Given the description of an element on the screen output the (x, y) to click on. 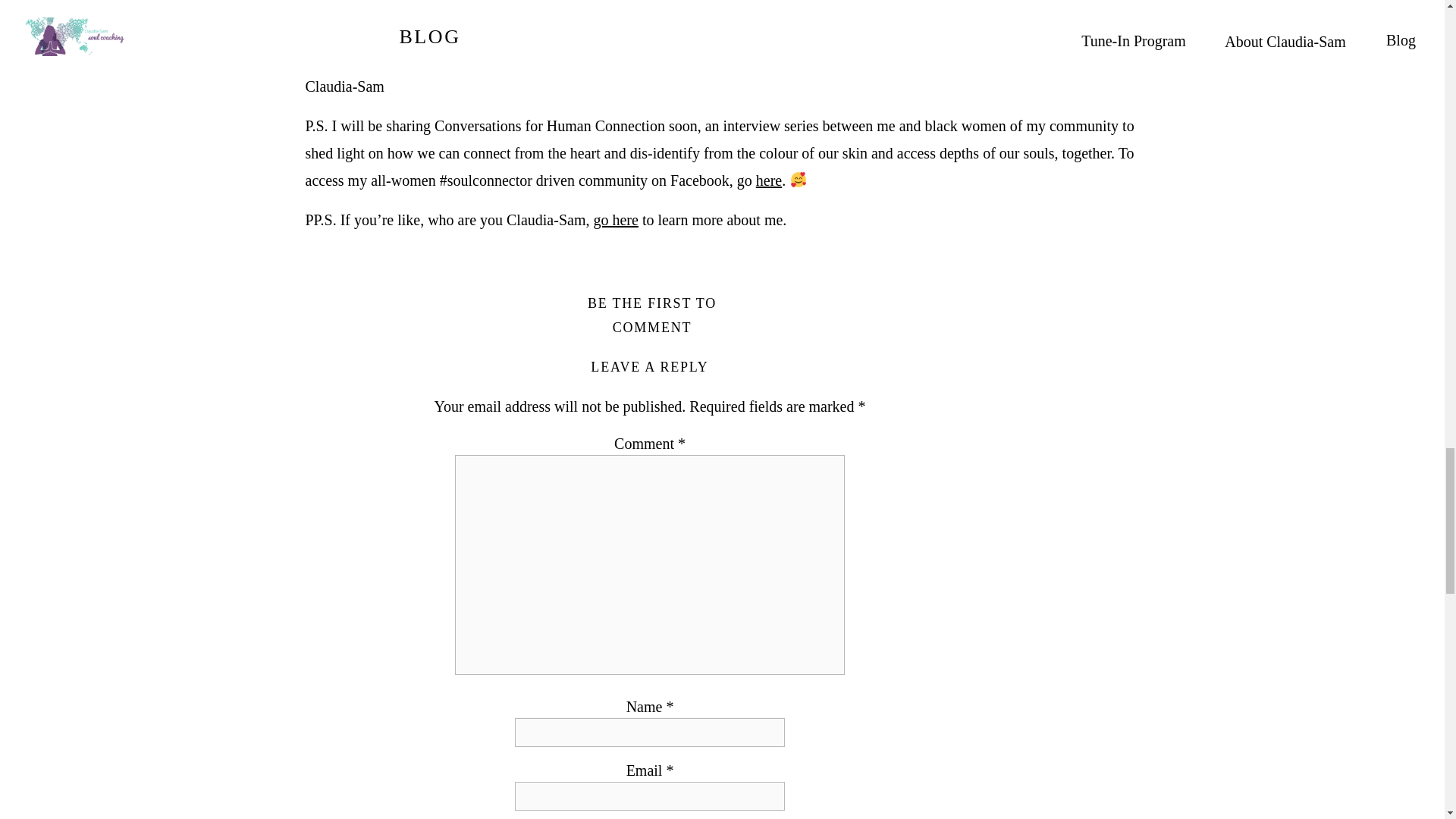
BE THE FIRST TO COMMENT (652, 314)
go here (614, 219)
here (768, 180)
